Given the description of an element on the screen output the (x, y) to click on. 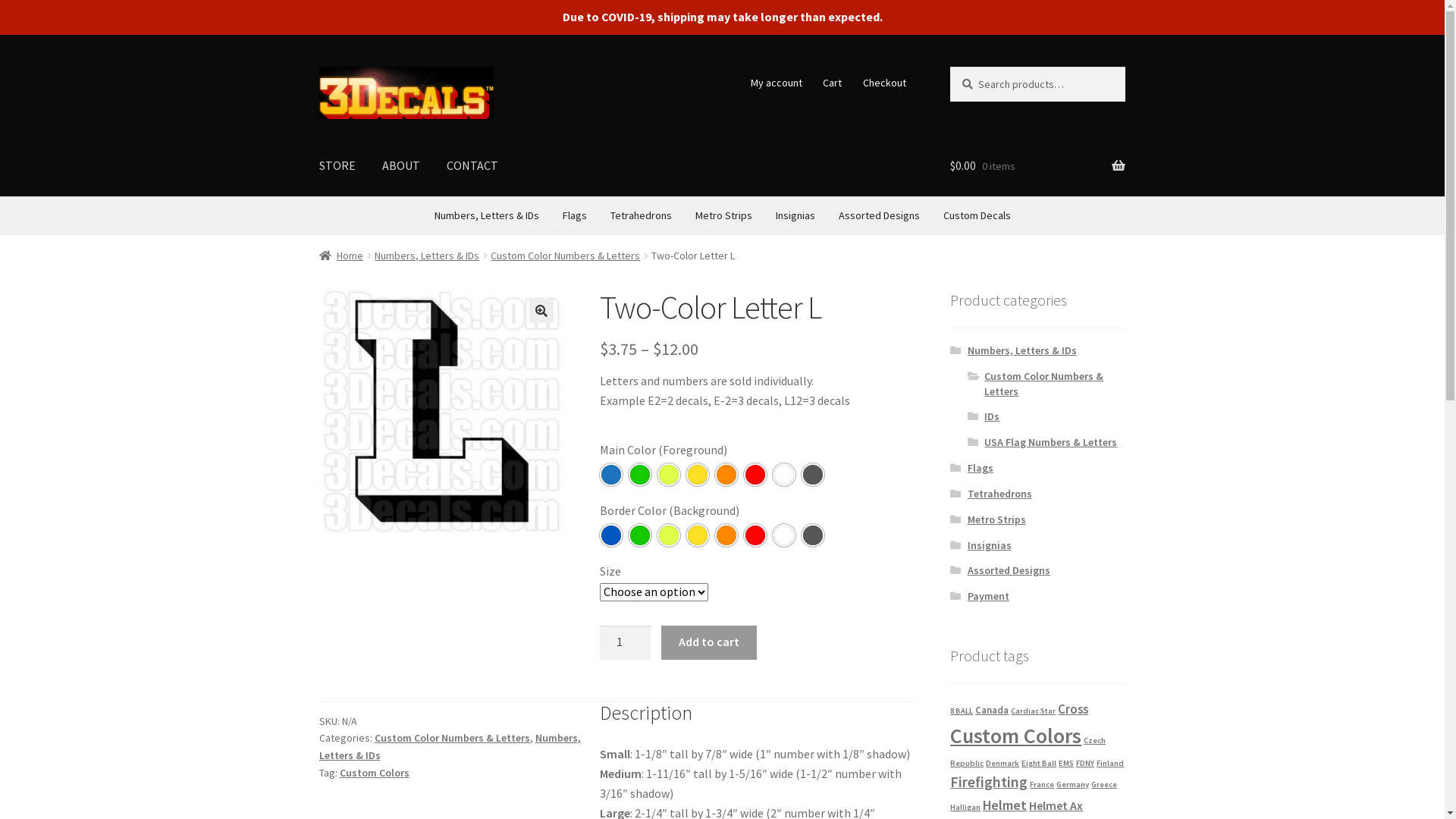
Custom Colors Element type: text (374, 772)
Lemon Element type: hover (668, 474)
Blue Element type: hover (610, 535)
Yellow Element type: hover (697, 535)
STORE Element type: text (337, 165)
Skip to navigation Element type: text (318, 65)
Add to cart Element type: text (708, 642)
Helmet Element type: text (1004, 805)
White(Silver) Element type: hover (783, 535)
Finland Element type: text (1109, 763)
Red Element type: hover (754, 474)
Qty Element type: hover (625, 642)
Payment Element type: text (988, 595)
Canada Element type: text (991, 709)
Tetrahedrons Element type: text (999, 493)
Tetrahedrons Element type: text (640, 215)
Checkout Element type: text (884, 82)
Eight Ball Element type: text (1038, 763)
Custom Colors Element type: text (1015, 735)
Numbers, Letters & IDs Element type: text (485, 215)
Numbers, Letters & IDs Element type: text (426, 255)
Firefighting Element type: text (988, 781)
Cart Element type: text (832, 82)
Helmet Ax Element type: text (1055, 804)
Blue Element type: hover (610, 474)
Green Element type: hover (639, 474)
Czech Republic Element type: text (1027, 751)
Yellow Element type: hover (697, 474)
Greece Element type: text (1104, 784)
Custom Color Numbers & Letters Element type: text (452, 737)
Orange Element type: hover (726, 535)
Germany Element type: text (1072, 784)
EMS Element type: text (1065, 763)
ABOUT Element type: text (401, 165)
$0.00 0 items Element type: text (1037, 165)
Cardiac Star Element type: text (1032, 710)
Flags Element type: text (980, 467)
Custom Decals Element type: text (976, 215)
Cross Element type: text (1072, 708)
Custom Color Numbers & Letters Element type: text (565, 255)
Home Element type: text (341, 255)
Green Element type: hover (639, 535)
My account Element type: text (775, 82)
Metro Strips Element type: text (722, 215)
CONTACT Element type: text (472, 165)
3decals-letters-L Element type: hover (441, 410)
Assorted Designs Element type: text (1008, 570)
Lemon Element type: hover (668, 535)
Assorted Designs Element type: text (878, 215)
USA Flag Numbers & Letters Element type: text (1050, 441)
Halligan Element type: text (965, 807)
FDNY Element type: text (1085, 763)
Numbers, Letters & IDs Element type: text (1021, 350)
Metro Strips Element type: text (996, 519)
Charcoal(Black) Element type: hover (812, 474)
Search Element type: text (949, 65)
White (Silver) Element type: hover (783, 474)
Flags Element type: text (574, 215)
8 BALL Element type: text (961, 710)
Denmark Element type: text (1002, 763)
Red Element type: hover (754, 535)
Insignias Element type: text (794, 215)
France Element type: text (1041, 784)
Orange Element type: hover (726, 474)
Custom Color Numbers & Letters Element type: text (1043, 383)
Numbers, Letters & IDs Element type: text (449, 746)
Insignias Element type: text (989, 545)
Charcoal (Black) Element type: hover (812, 535)
IDs Element type: text (991, 416)
